Given the description of an element on the screen output the (x, y) to click on. 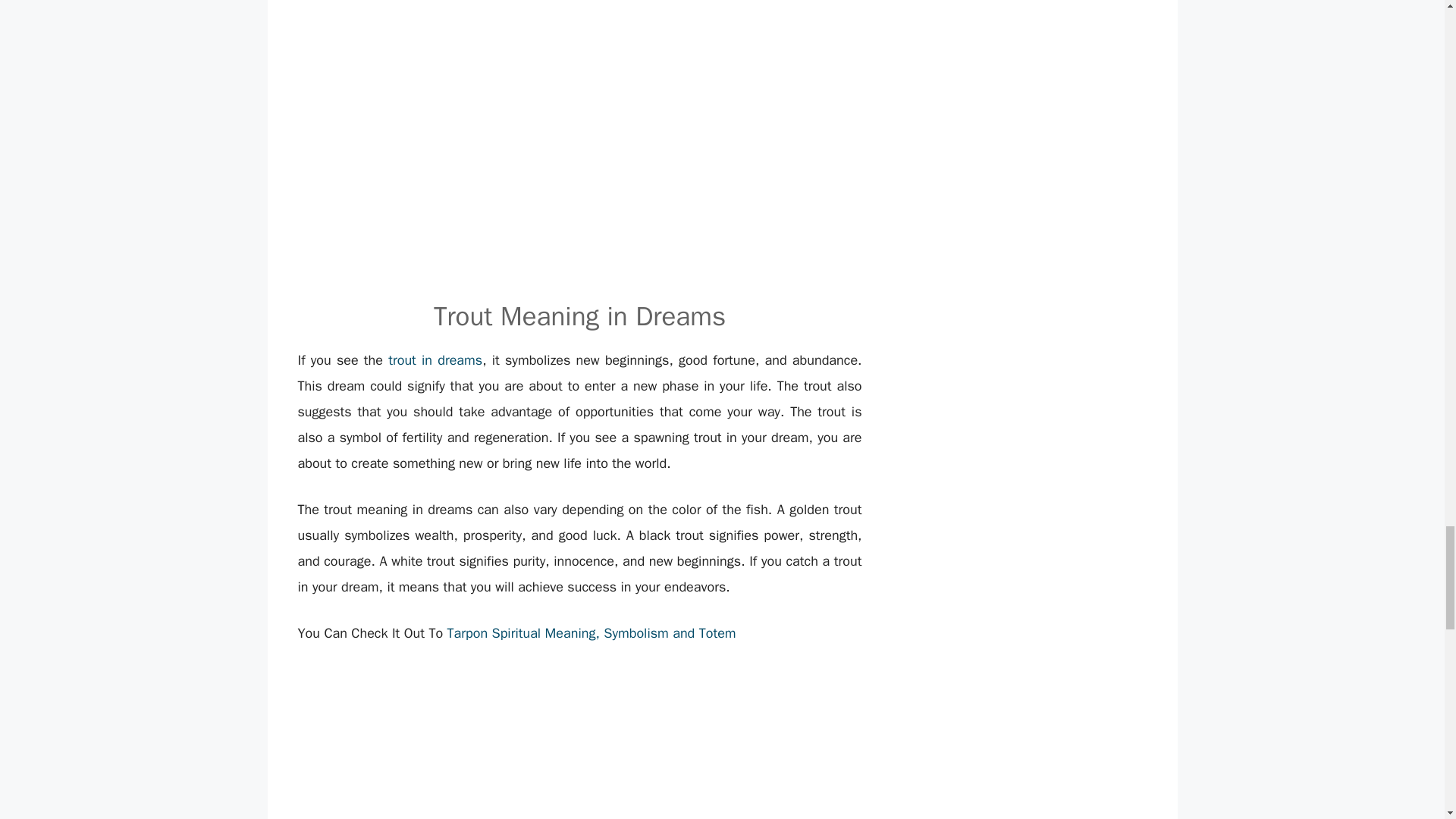
Tarpon Spiritual Meaning, Symbolism and Totem (591, 632)
trout in dreams (434, 360)
